Given the description of an element on the screen output the (x, y) to click on. 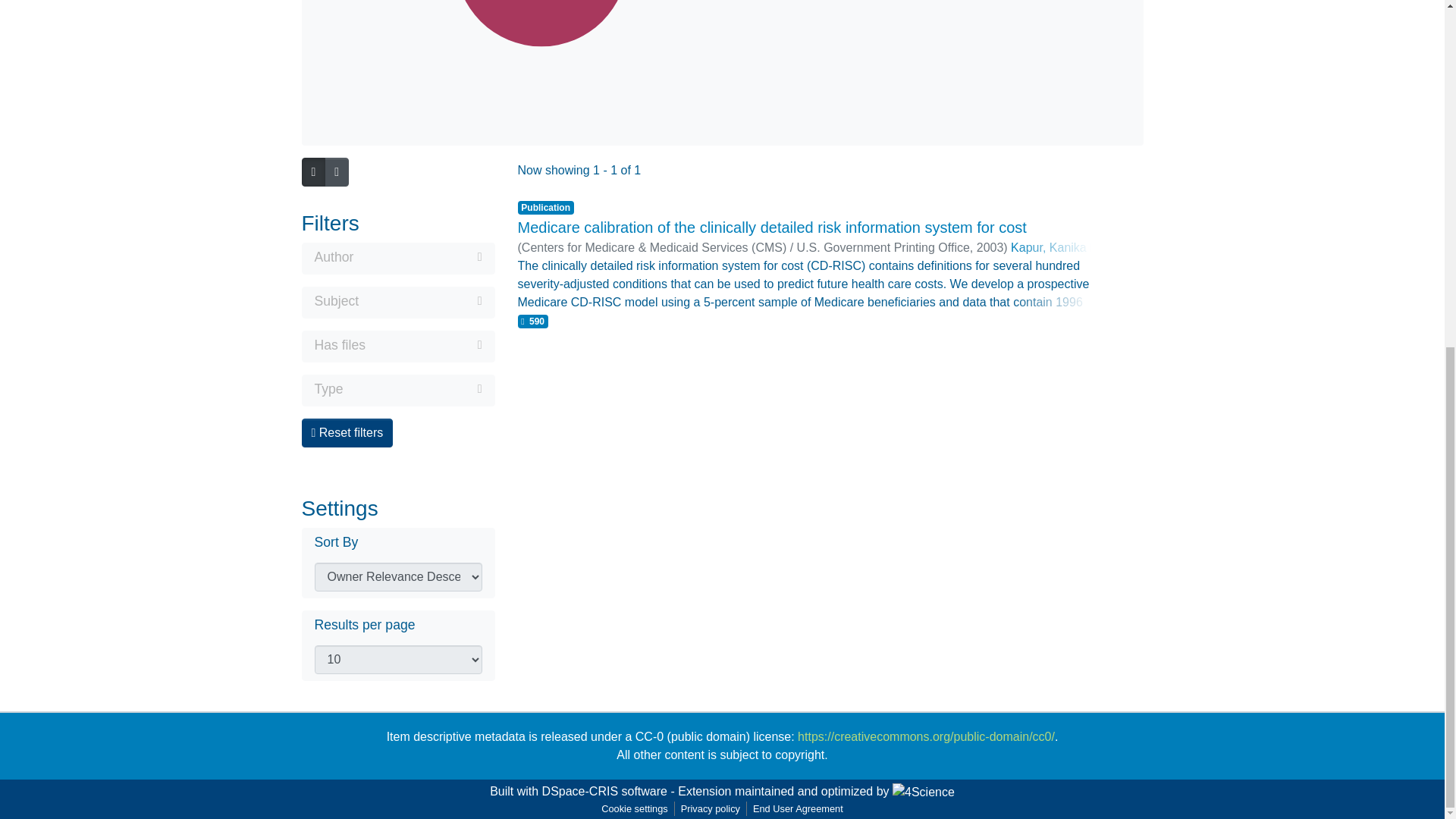
Subject (397, 302)
Expand filter (412, 389)
Expand filter (419, 300)
Expand filter (423, 344)
Expand filter (417, 257)
Author (397, 258)
